Given the description of an element on the screen output the (x, y) to click on. 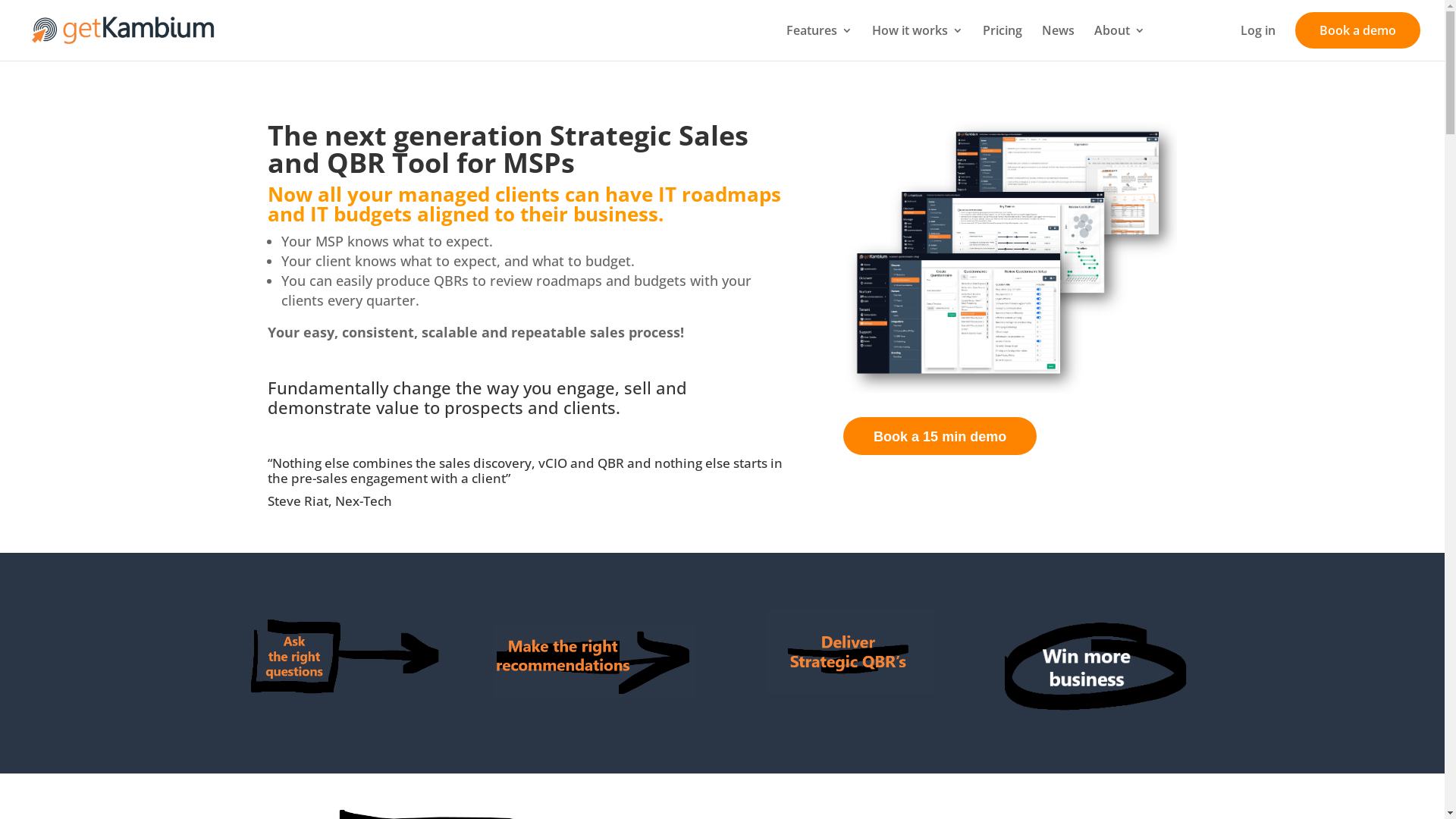
Features Element type: text (819, 42)
About Element type: text (1119, 42)
Book a demo Element type: text (1357, 30)
2023-08-02_17h36_21 Element type: hover (849, 650)
News Element type: text (1057, 42)
Pricing Element type: text (1002, 42)
2023-07-24_13h07_00 Element type: hover (337, 653)
2023-07-28_12h22_58 Element type: hover (593, 660)
Book a 15 min demo Element type: text (939, 436)
2023-07-24_13h07_39 Element type: hover (1105, 667)
Log in Element type: text (1257, 42)
How it works Element type: text (917, 42)
2023-07-24_13h03_42 Element type: hover (1009, 257)
